Given the description of an element on the screen output the (x, y) to click on. 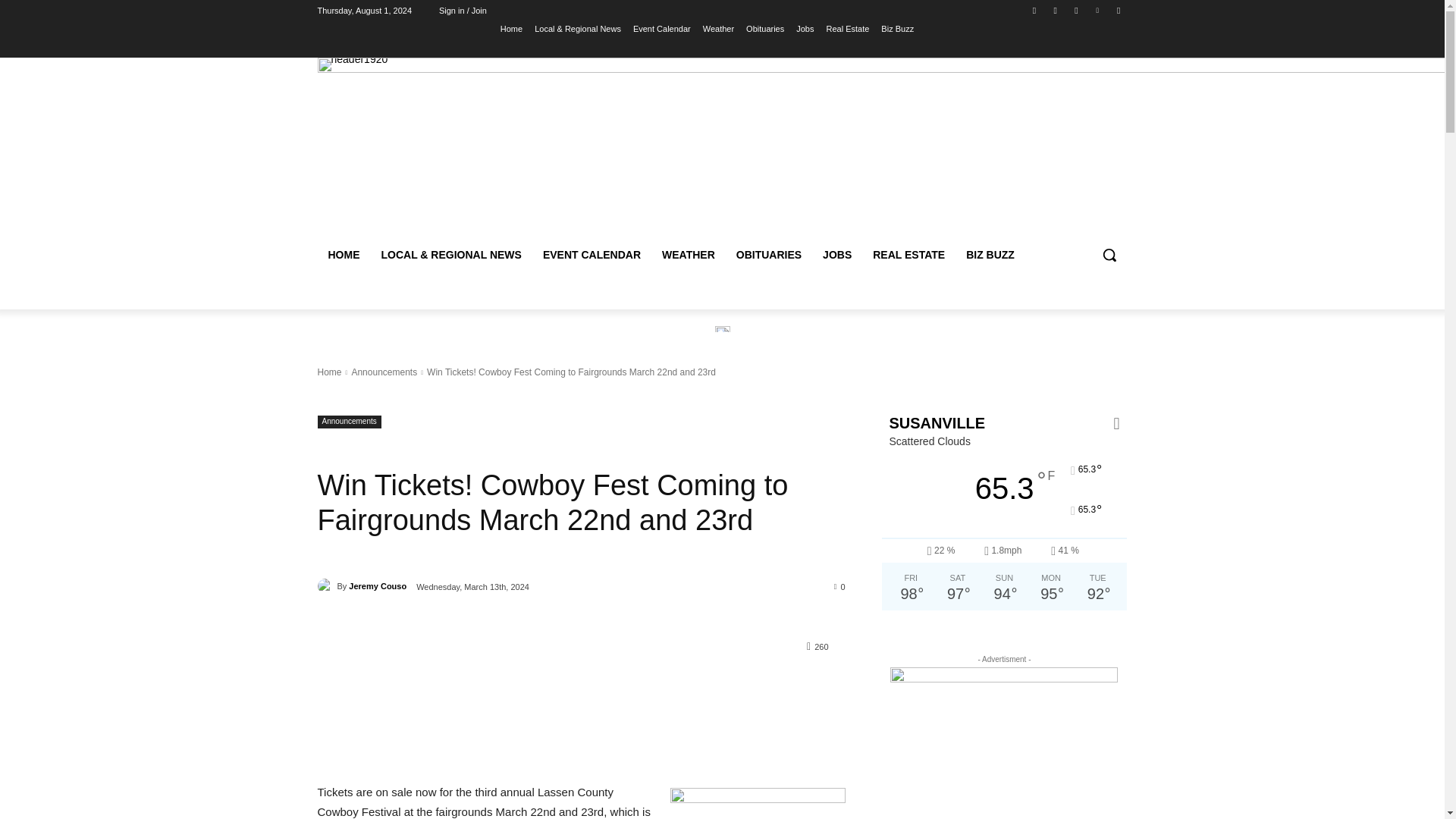
OBITUARIES (768, 254)
Event Calendar (661, 28)
Jeremy Couso (326, 585)
Youtube (1117, 9)
Weather (718, 28)
Obituaries (764, 28)
Twitter (1075, 9)
Facebook (1034, 9)
REAL ESTATE (908, 254)
Home (511, 28)
